Given the description of an element on the screen output the (x, y) to click on. 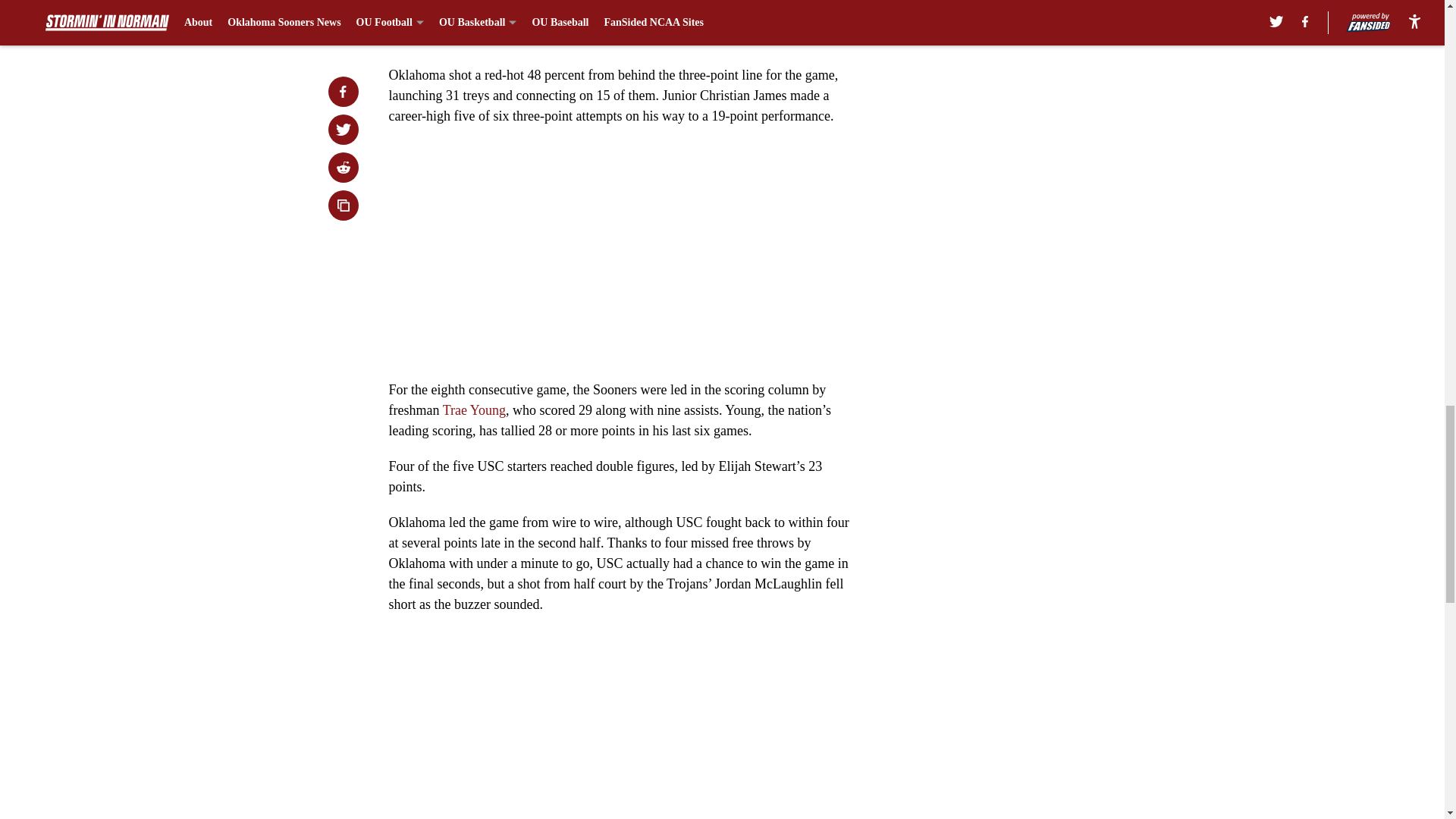
Trae Young (473, 409)
